Given the description of an element on the screen output the (x, y) to click on. 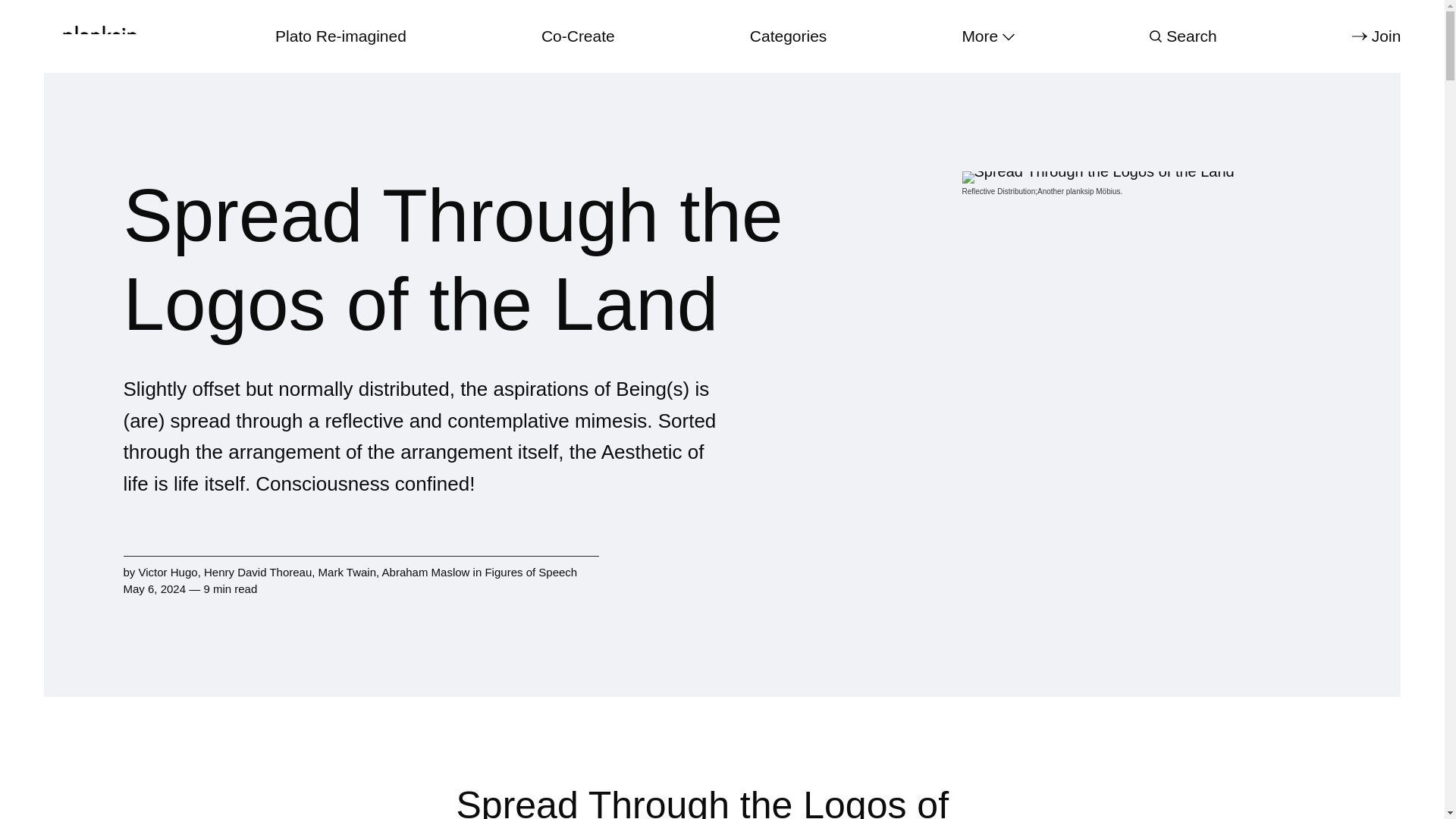
Plato Re-imagined (340, 36)
Abraham Maslow (425, 571)
Figures of Speech (530, 571)
Henry David Thoreau (257, 571)
Join (1376, 36)
Mark Twain (346, 571)
Victor Hugo (168, 571)
Categories (788, 36)
Co-Create (577, 36)
